Given the description of an element on the screen output the (x, y) to click on. 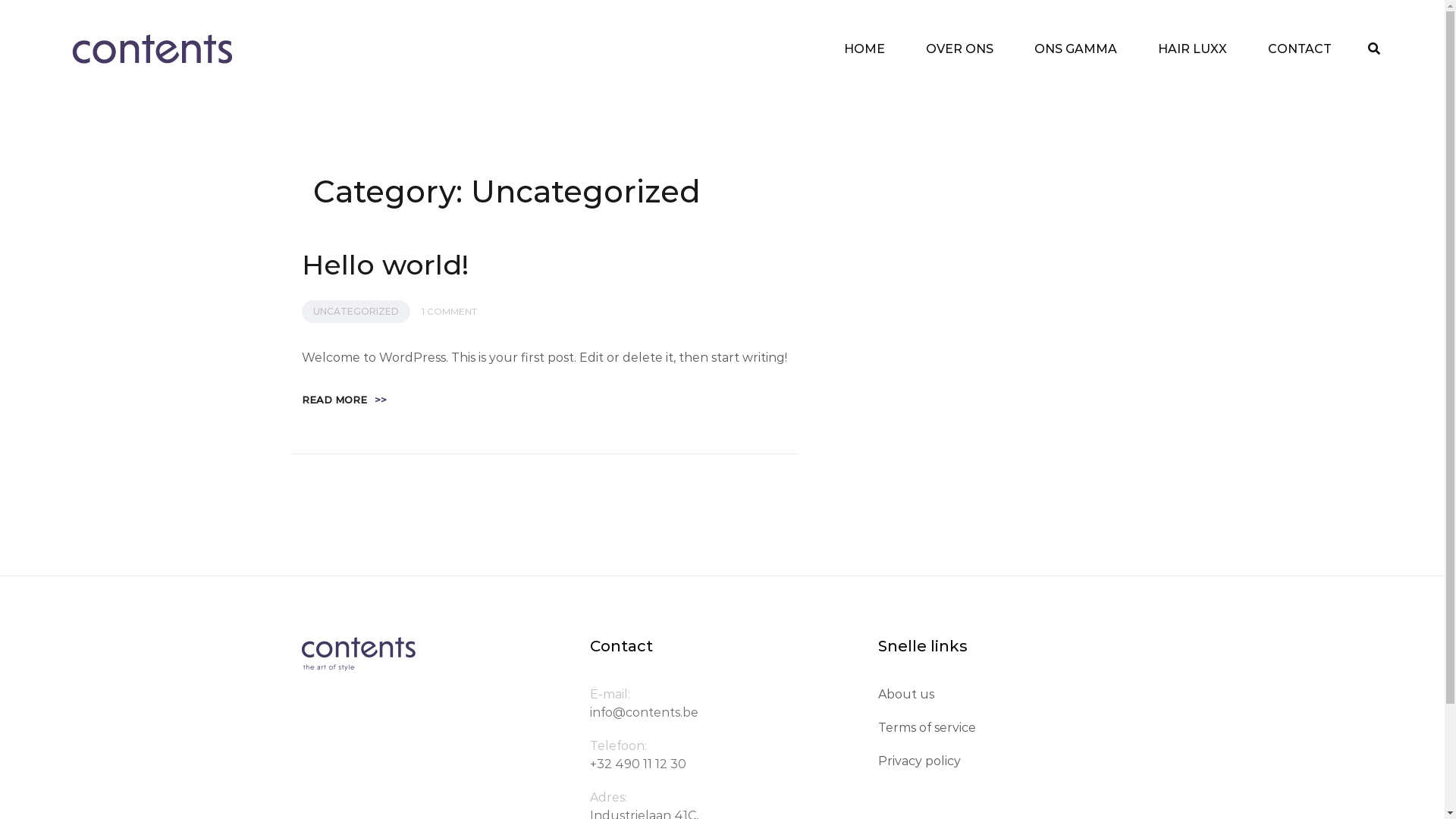
About us Element type: text (906, 694)
Hello world! Element type: text (384, 264)
JUNE 4, 2020 Element type: text (319, 276)
UNCATEGORIZED Element type: text (355, 311)
HOME Element type: text (864, 48)
OVER ONS Element type: text (959, 48)
Privacy policy Element type: text (919, 760)
Terms of service Element type: text (926, 727)
READ MORE>> Element type: text (343, 399)
HAIR LUXX Element type: text (1191, 48)
ONS GAMMA Element type: text (1075, 48)
CONTACT Element type: text (1299, 48)
